Given the description of an element on the screen output the (x, y) to click on. 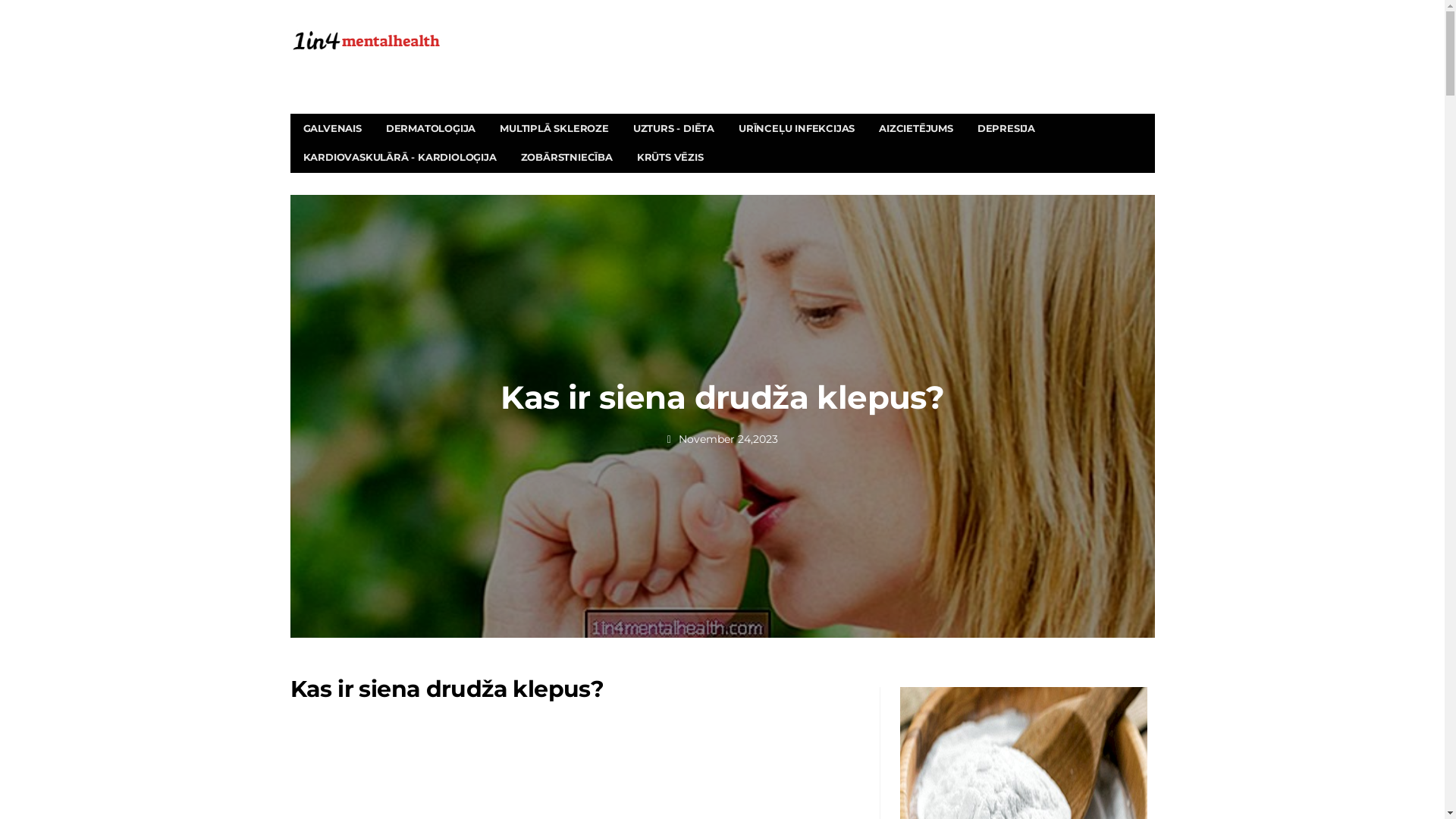
GALVENAIS Element type: text (332, 128)
DEPRESIJA Element type: text (1006, 128)
